Given the description of an element on the screen output the (x, y) to click on. 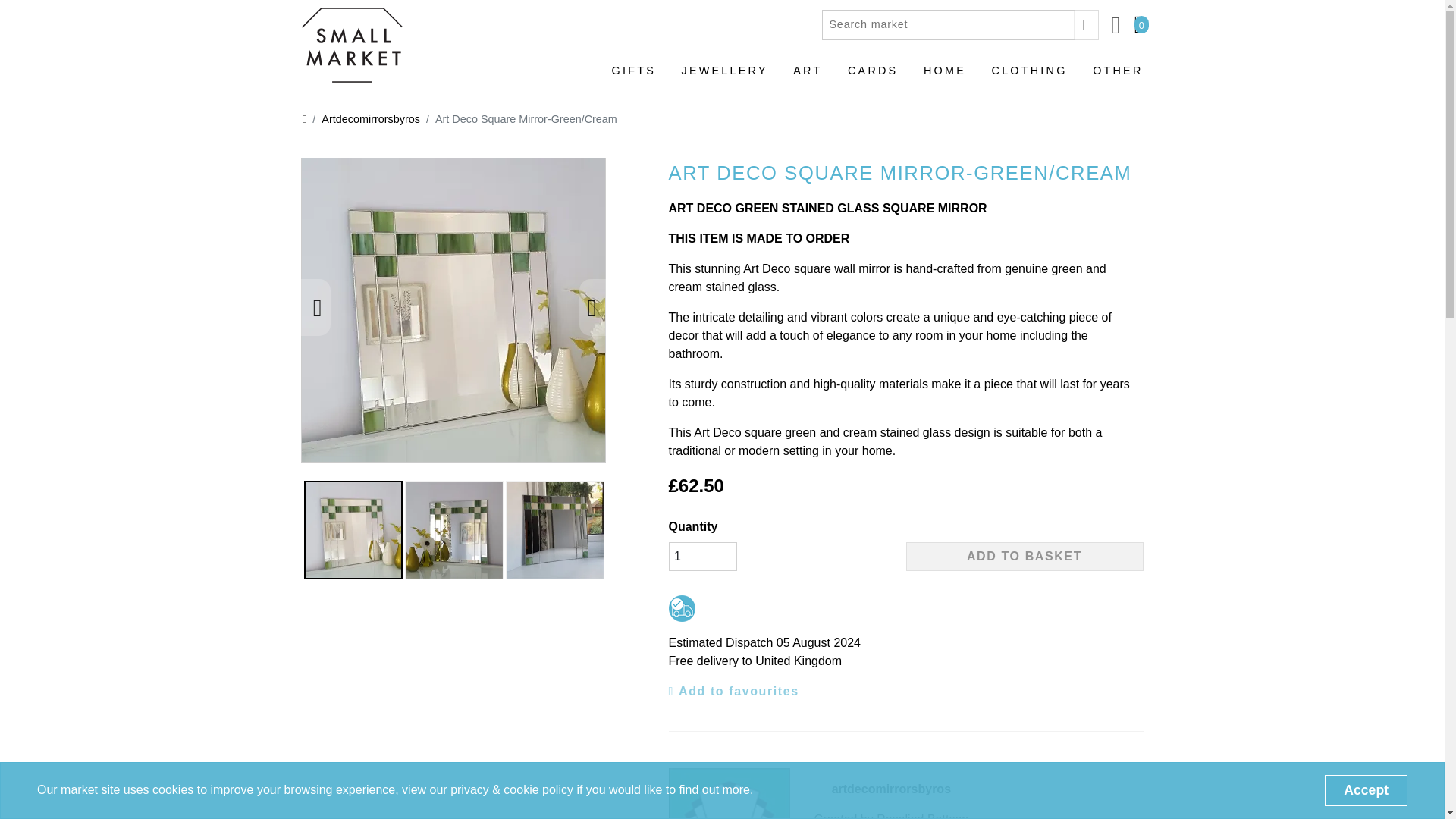
artdecomirrorsbyros (891, 789)
1 (702, 556)
OTHER (1117, 77)
CLOTHING (1029, 77)
CARDS (872, 77)
Artdecomirrorsbyros (362, 119)
Free delivery to United Kingdom (681, 608)
ADD TO BASKET (1023, 556)
ART (807, 77)
HOME (944, 77)
Add to favourites (733, 691)
JEWELLERY (724, 77)
